Given the description of an element on the screen output the (x, y) to click on. 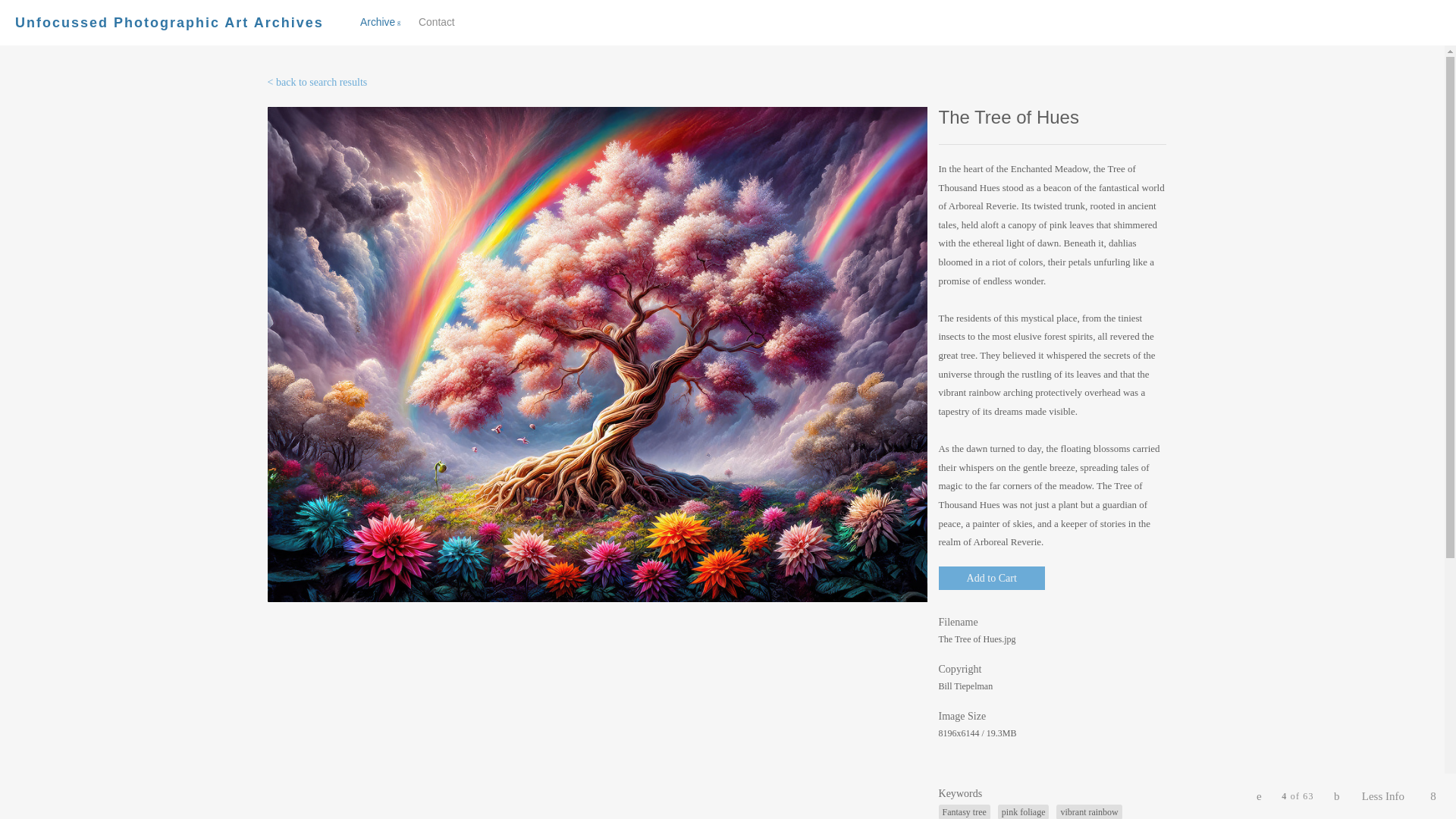
Add to Cart (992, 577)
Unfocussed Photographic Art Archives (414, 23)
Unfocussed Photographic Art Archives (168, 22)
back to search results (168, 22)
Contact (316, 81)
Add to Cart (436, 21)
